Given the description of an element on the screen output the (x, y) to click on. 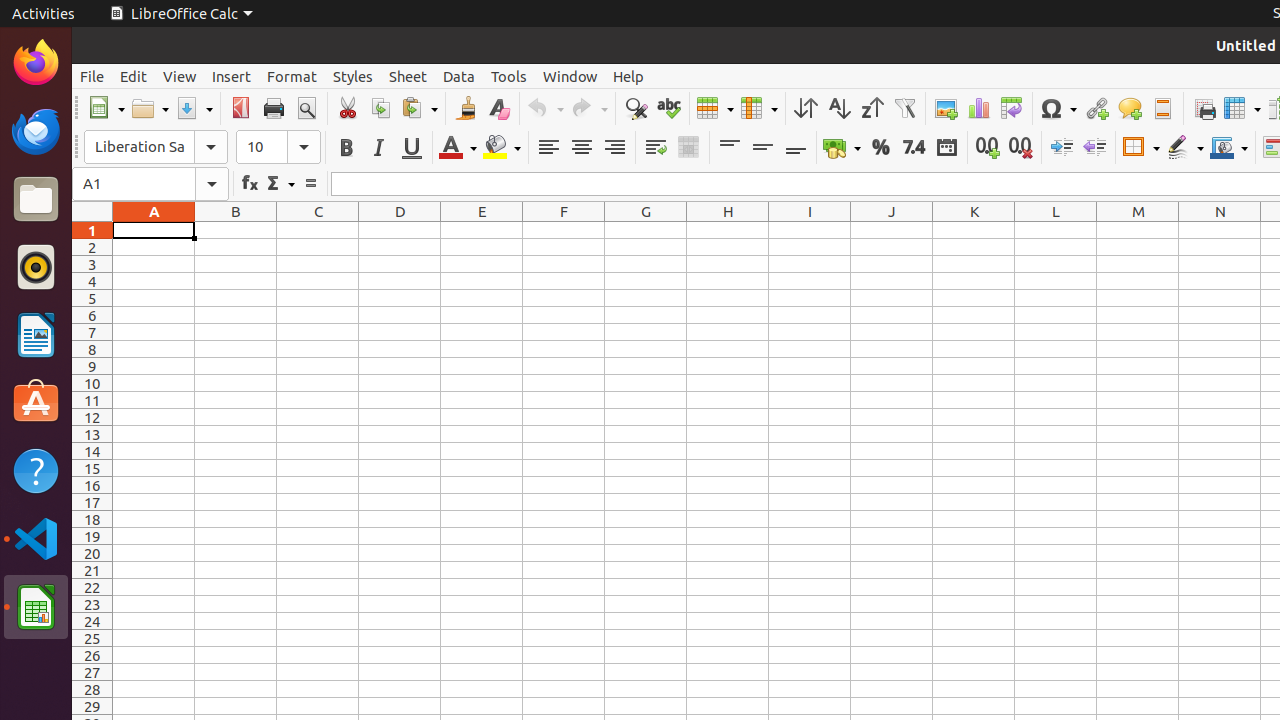
Align Center Element type: push-button (581, 147)
Spelling Element type: push-button (668, 108)
Ubuntu Software Element type: push-button (36, 402)
Delete Decimal Place Element type: push-button (1020, 147)
Merge and Center Cells Element type: push-button (688, 147)
